Given the description of an element on the screen output the (x, y) to click on. 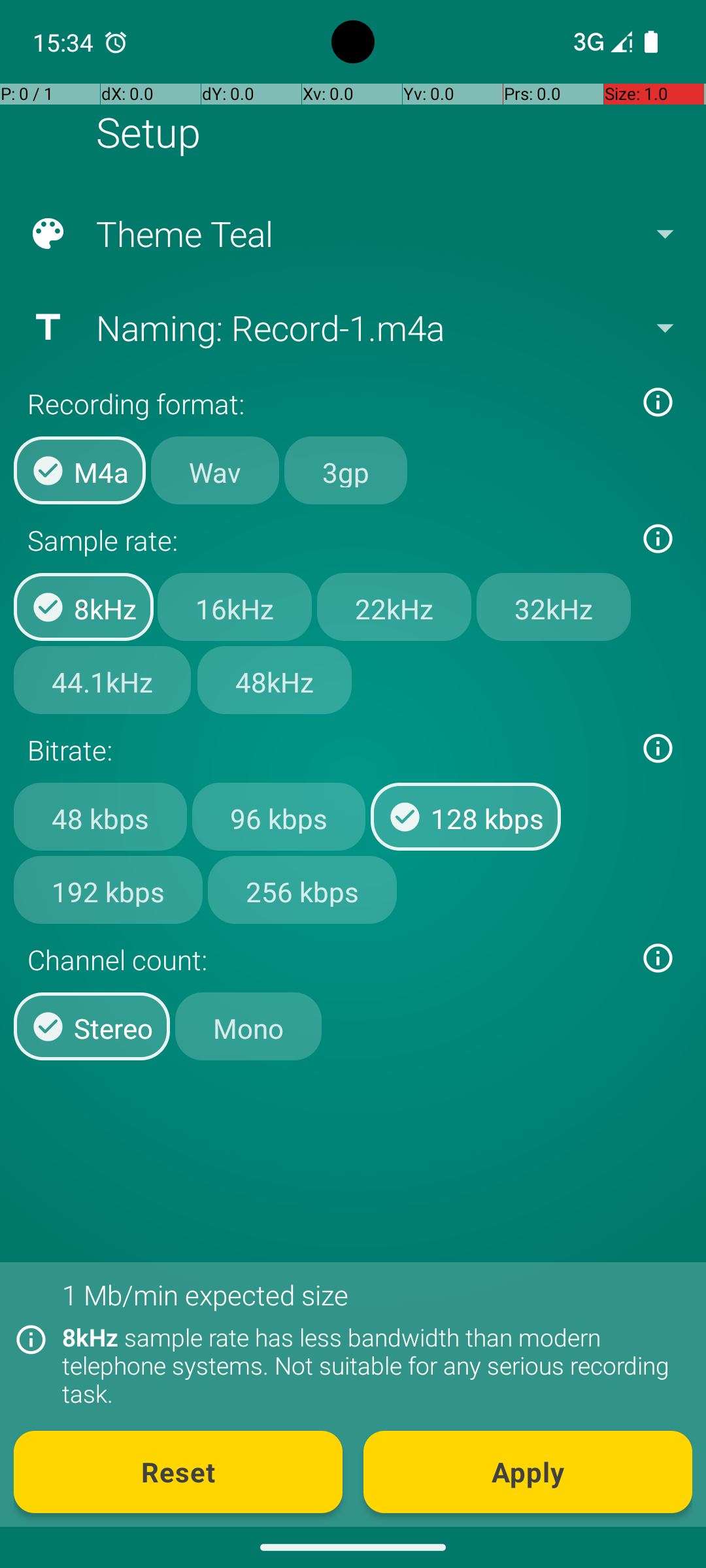
8kHz sample rate has less bandwidth than modern telephone systems. Not suitable for any serious recording task. Element type: android.widget.TextView (370, 1364)
Clock notification: Missed alarm Element type: android.widget.ImageView (115, 41)
